Given the description of an element on the screen output the (x, y) to click on. 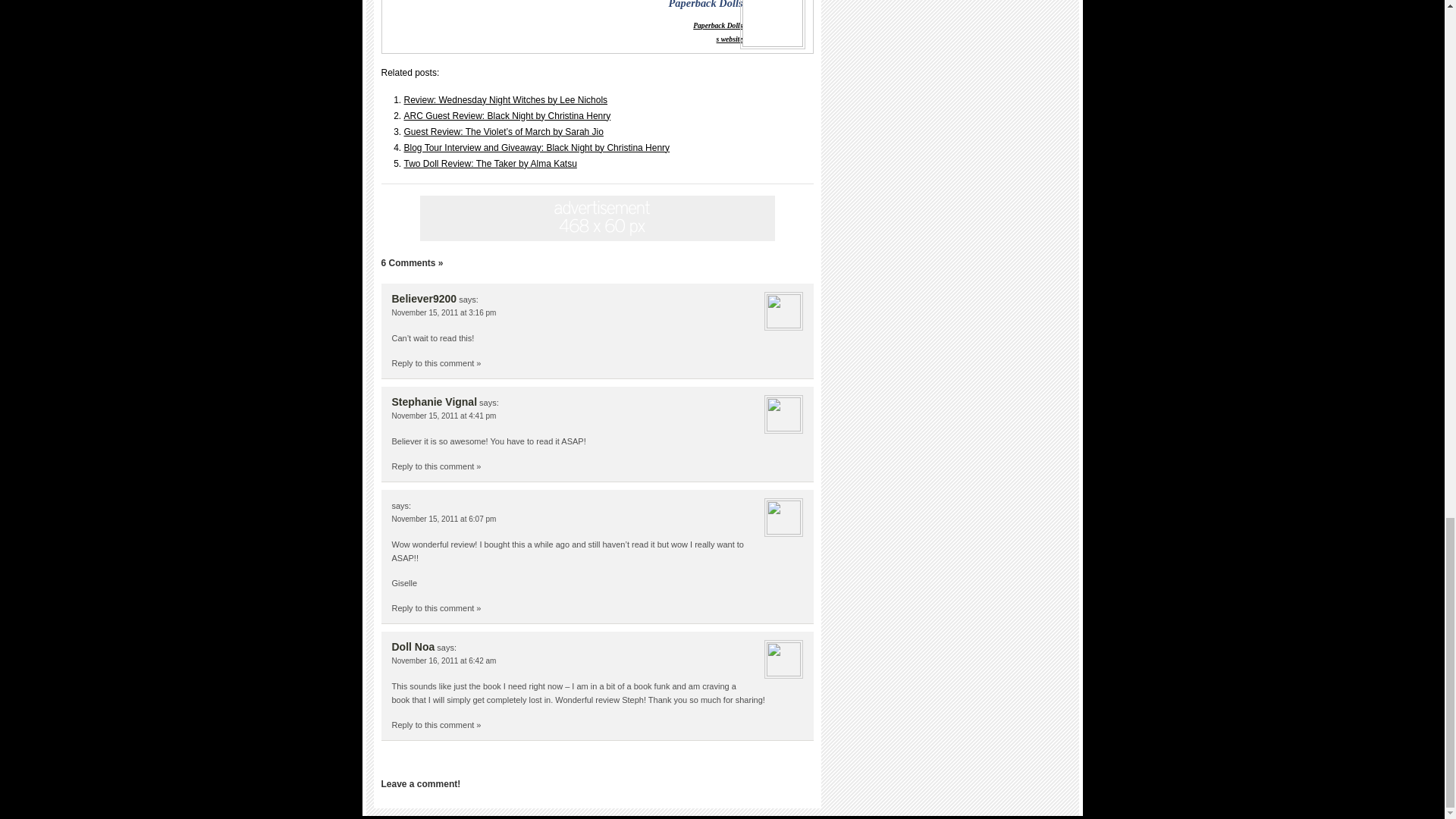
View all posts by Paperback Dolls (717, 25)
s website (729, 39)
